Given the description of an element on the screen output the (x, y) to click on. 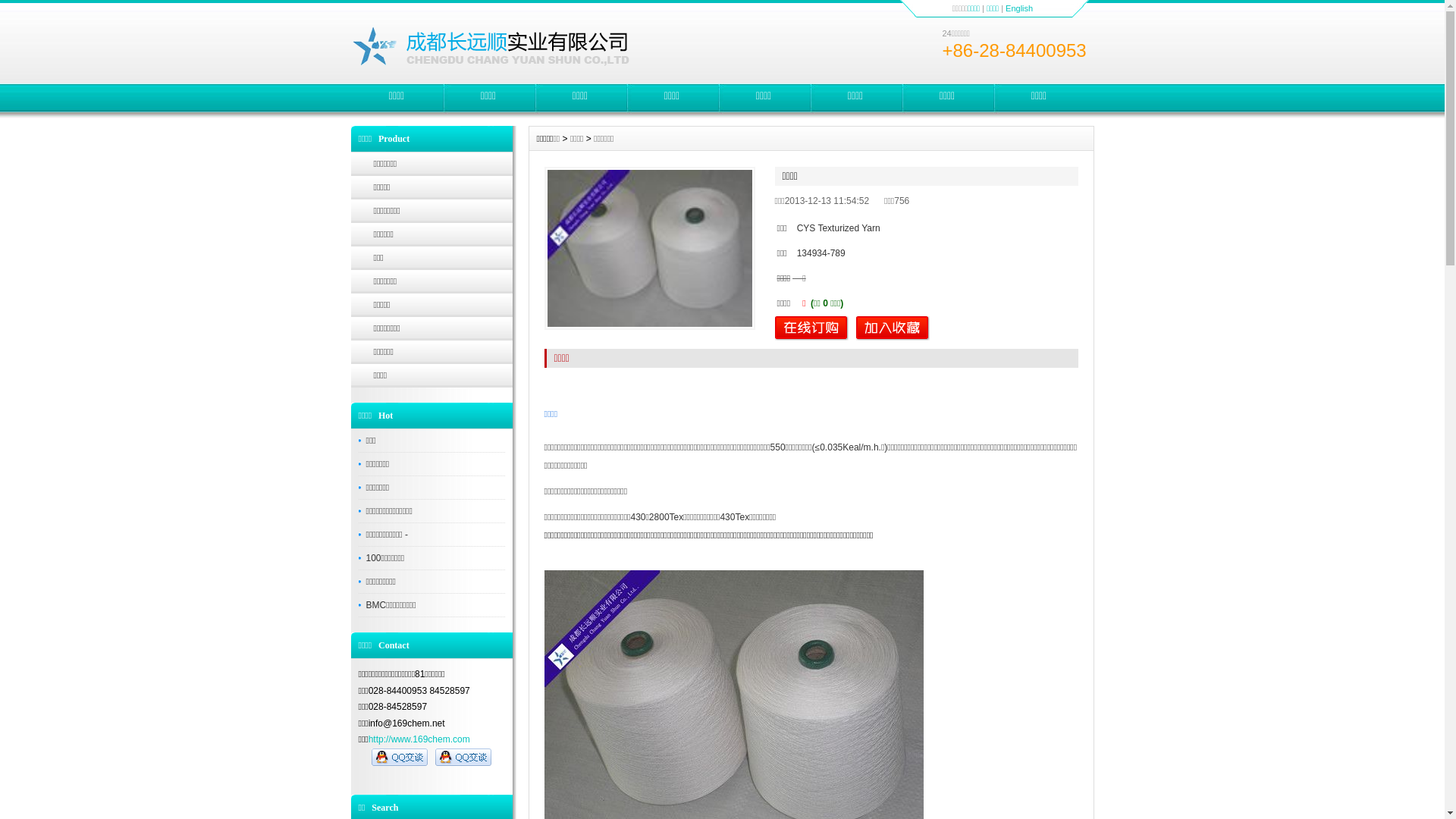
http://www.169chem.com Element type: text (419, 739)
English Element type: text (1018, 7)
